Given the description of an element on the screen output the (x, y) to click on. 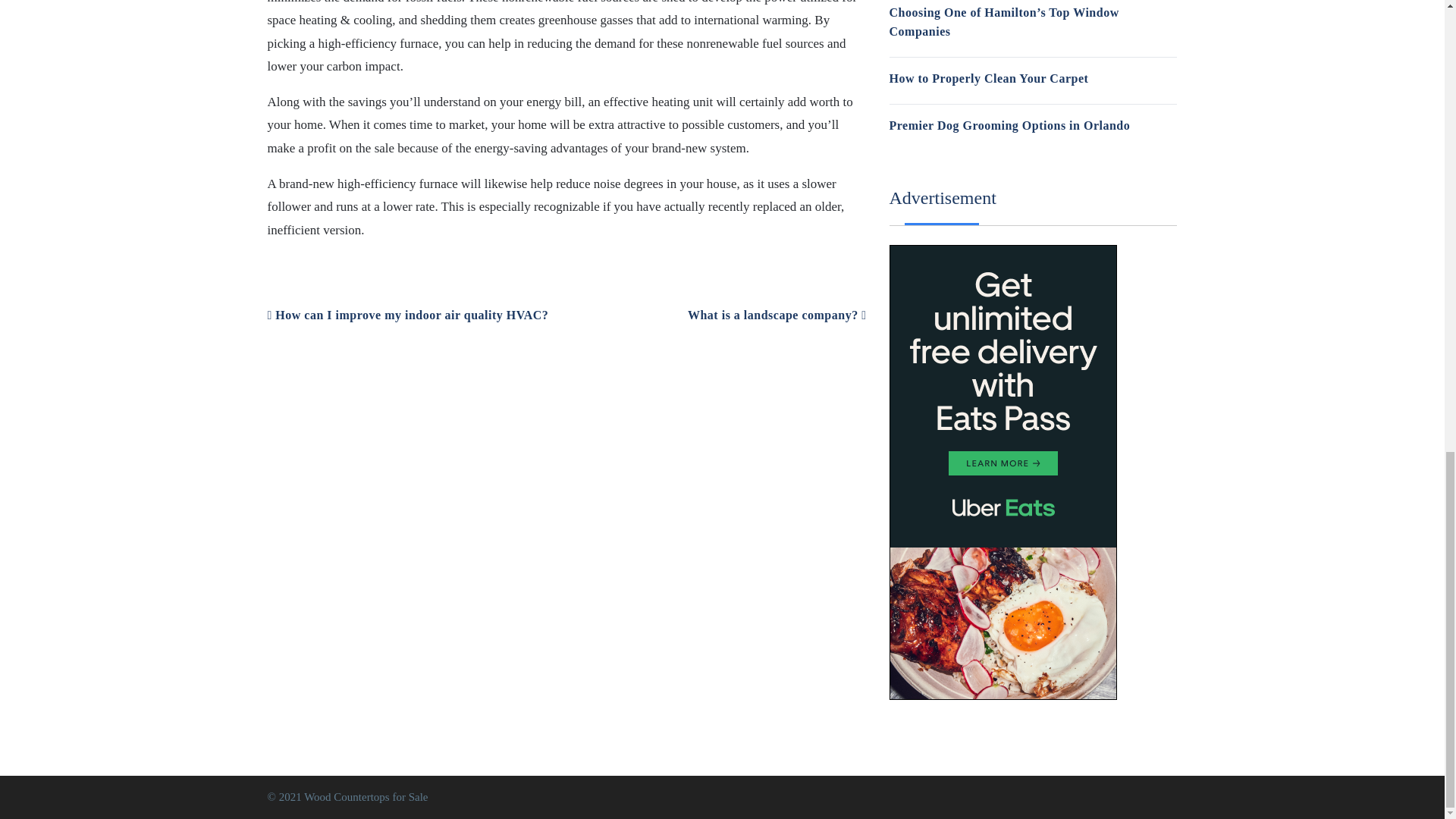
Premier Dog Grooming Options in Orlando (1008, 124)
What is a landscape company? (776, 314)
How to Properly Clean Your Carpet (987, 78)
How can I improve my indoor air quality HVAC? (407, 314)
